Given the description of an element on the screen output the (x, y) to click on. 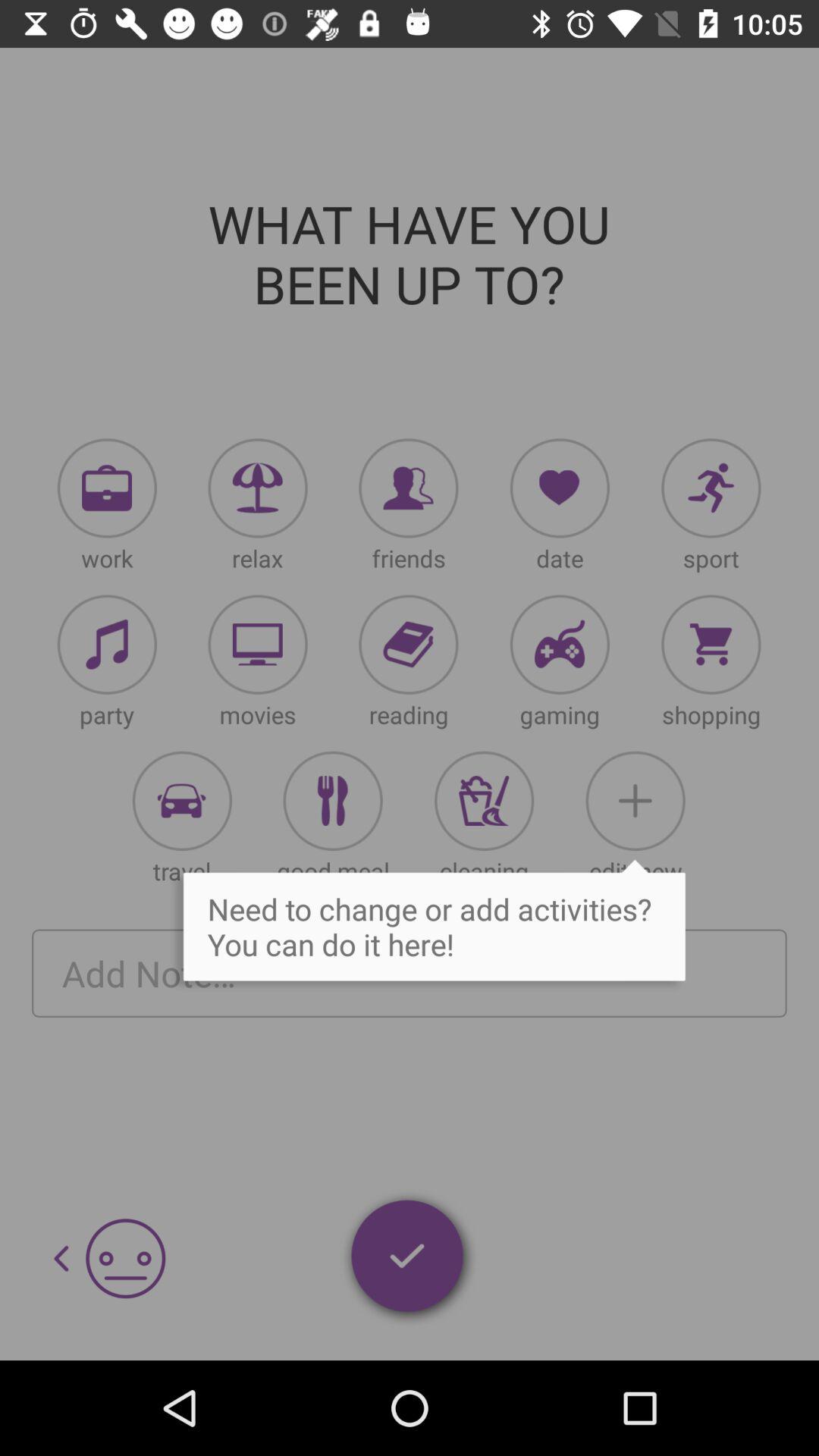
indicaing work option (106, 488)
